Given the description of an element on the screen output the (x, y) to click on. 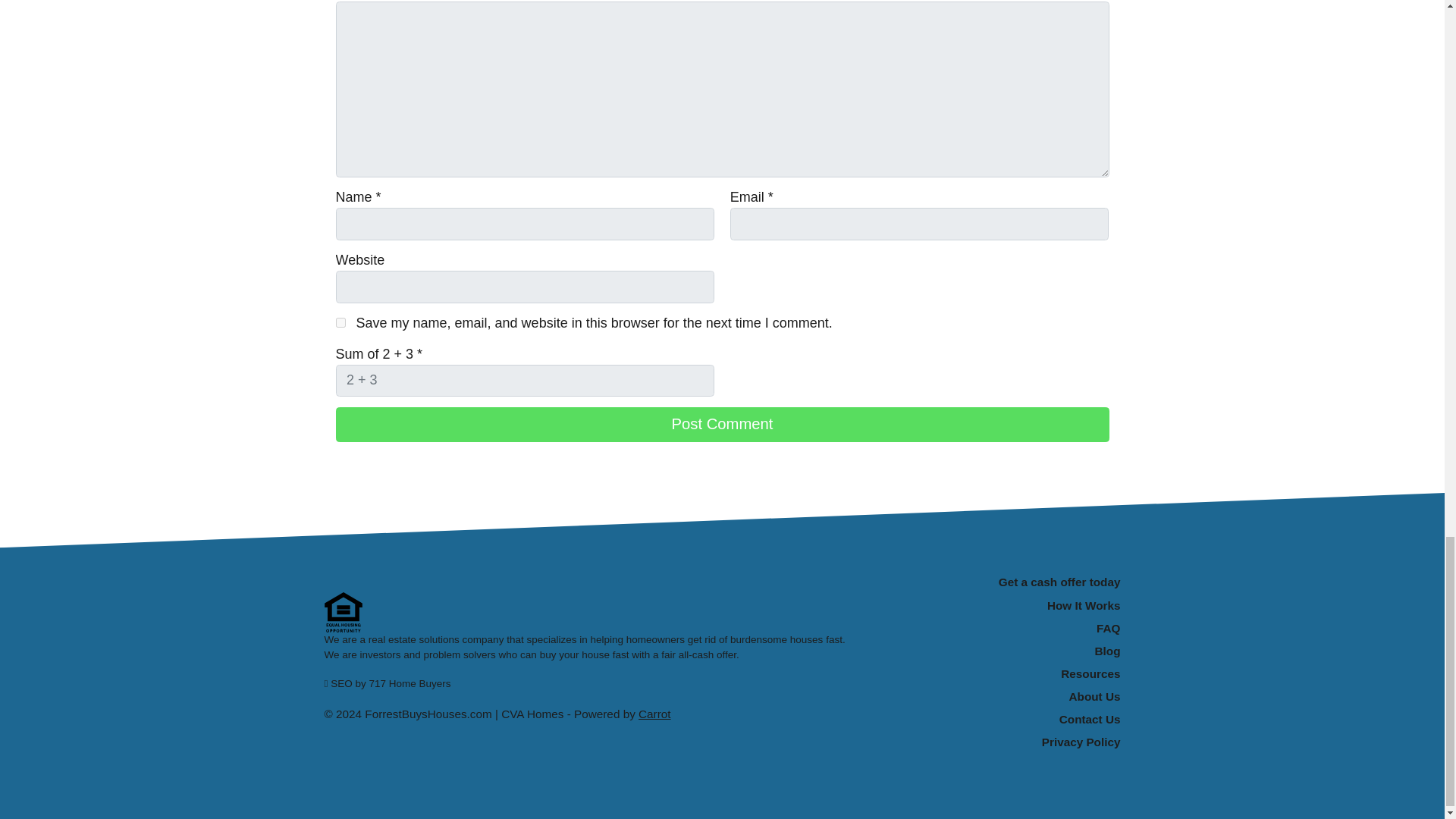
yes (339, 322)
717 Home Buyers (408, 683)
Resources (995, 673)
Post Comment (721, 424)
About Us (995, 696)
Blog (995, 650)
Post Comment (721, 424)
FAQ (995, 628)
Carrot (655, 713)
Contact Us (995, 720)
